Given the description of an element on the screen output the (x, y) to click on. 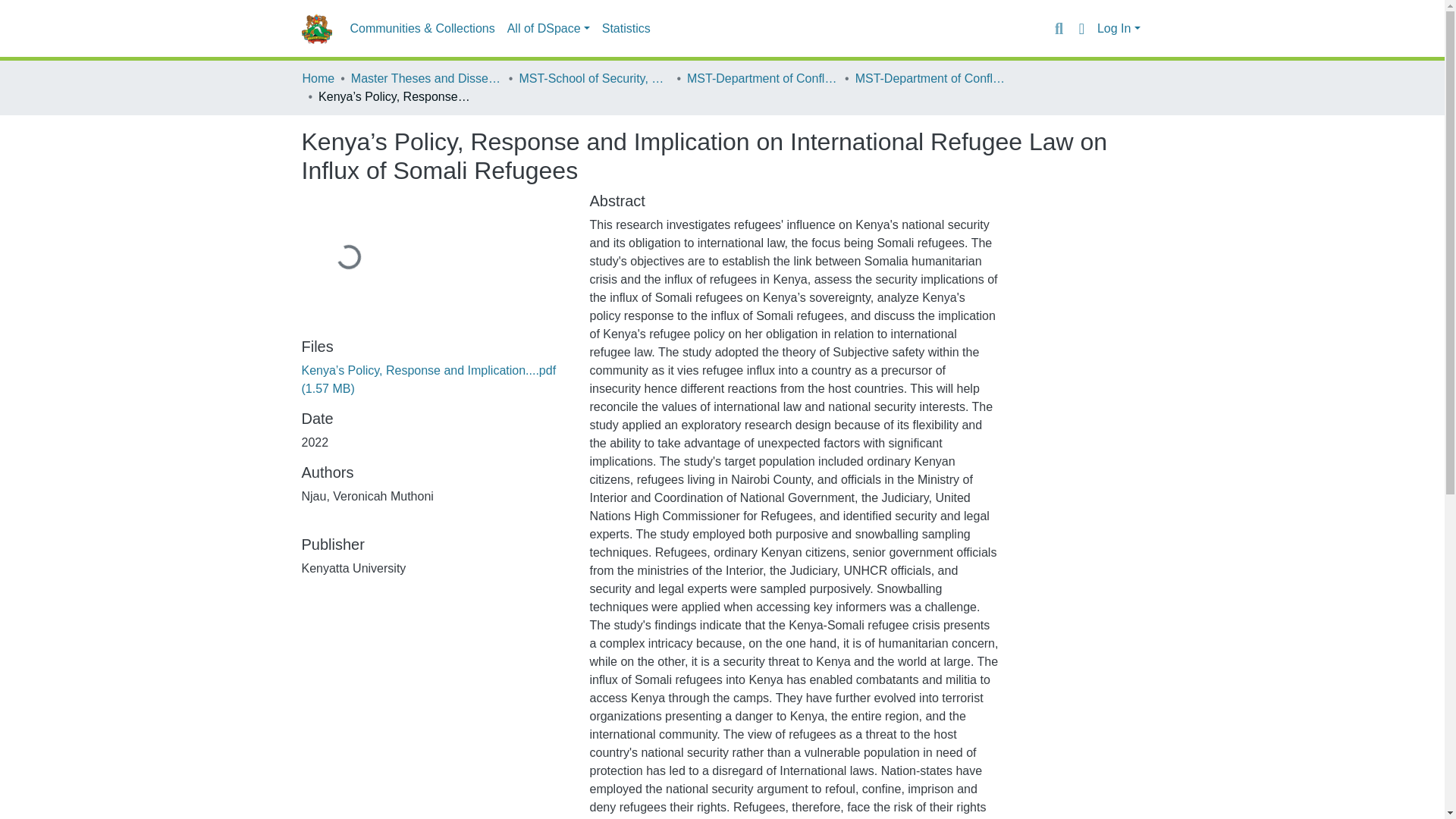
Home (317, 78)
Log In (1118, 28)
All of DSpace (547, 28)
Search (1058, 28)
Statistics (625, 28)
Statistics (625, 28)
Language switch (1081, 28)
MST-School of Security, Diplomacy and Peace Studies (593, 78)
